Given the description of an element on the screen output the (x, y) to click on. 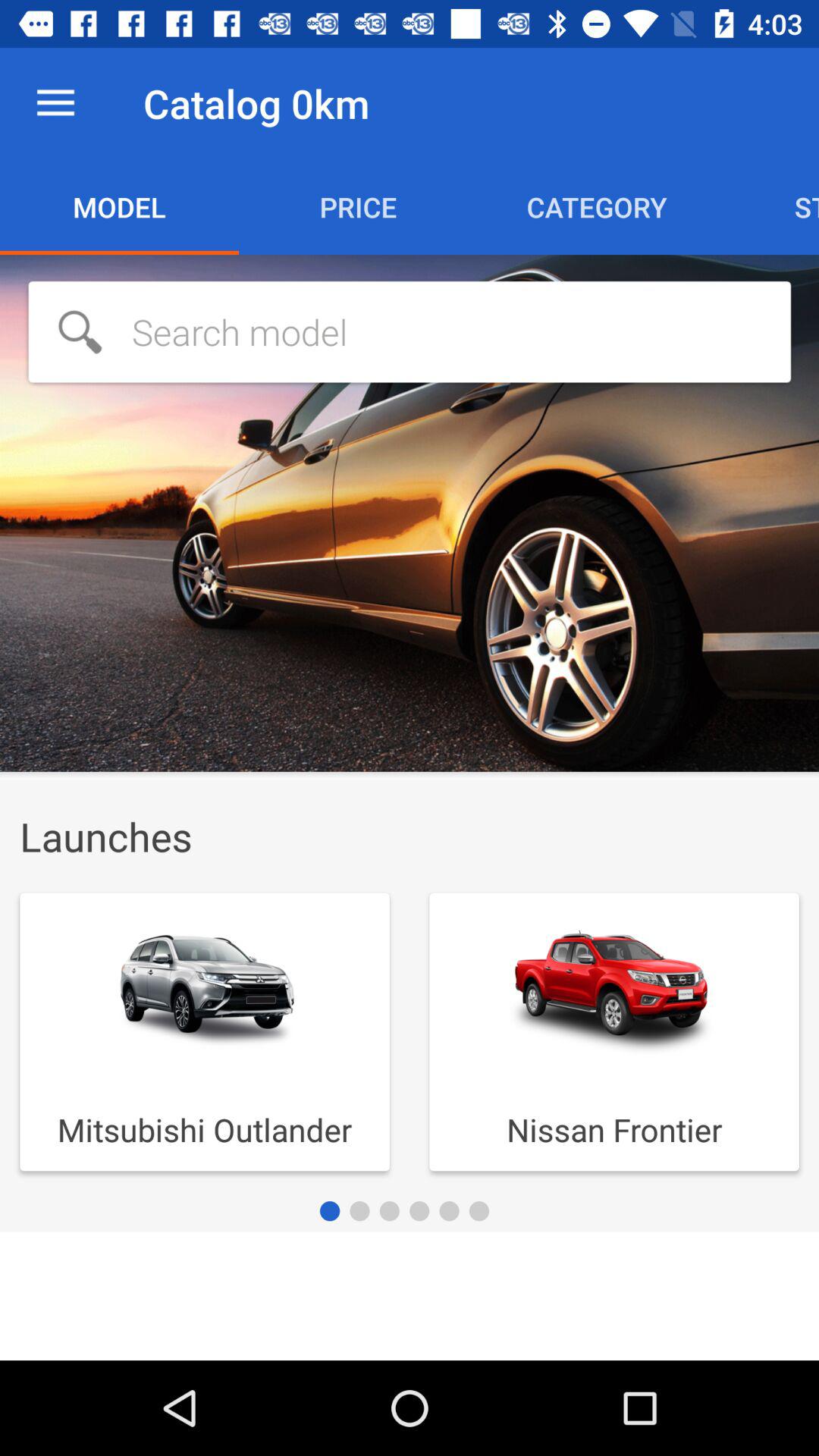
click icon next to the catalog 0km item (55, 103)
